Given the description of an element on the screen output the (x, y) to click on. 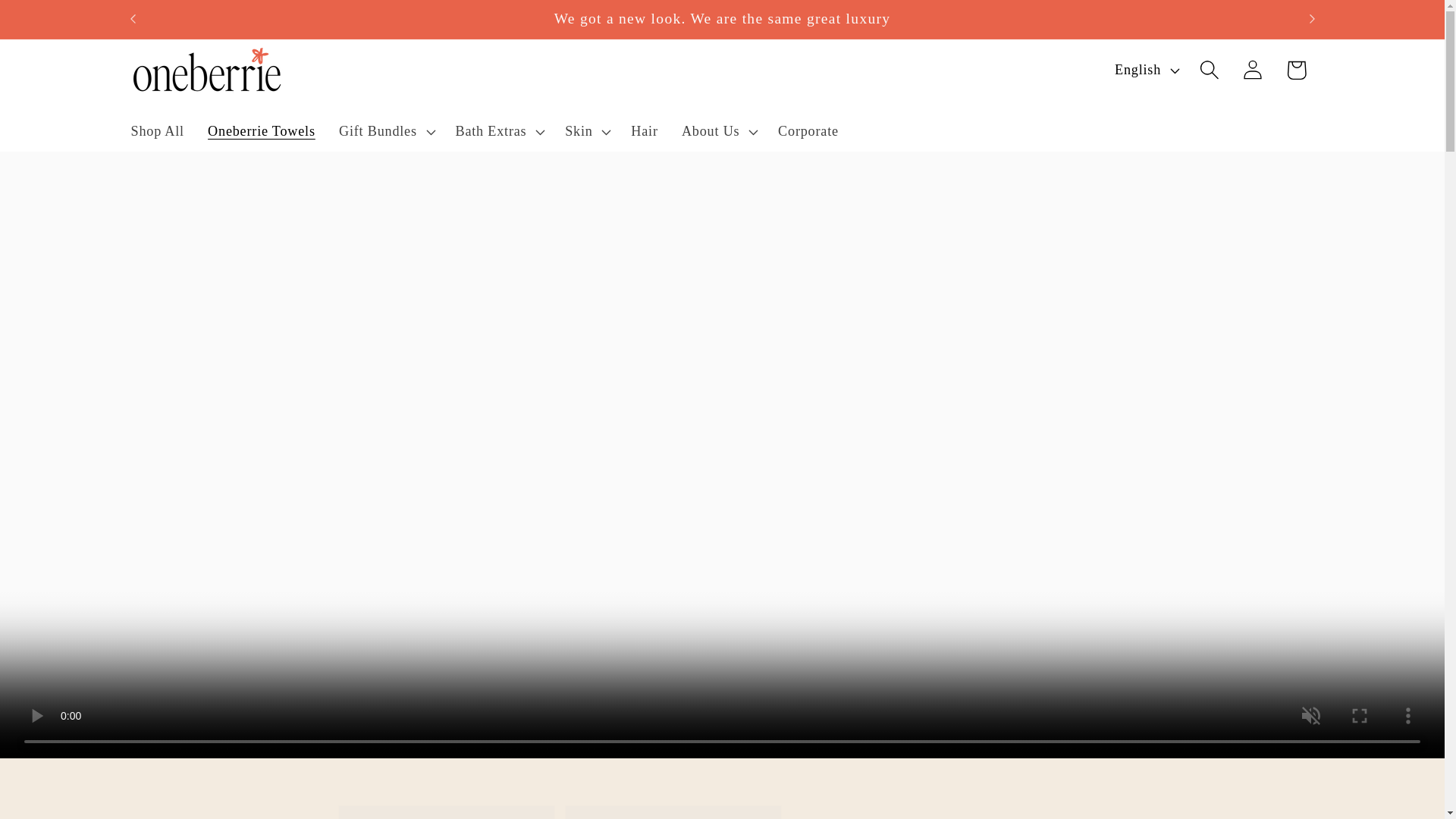
Skip to content (59, 22)
Shop All (559, 812)
Oneberrie Towels (157, 131)
